Given the description of an element on the screen output the (x, y) to click on. 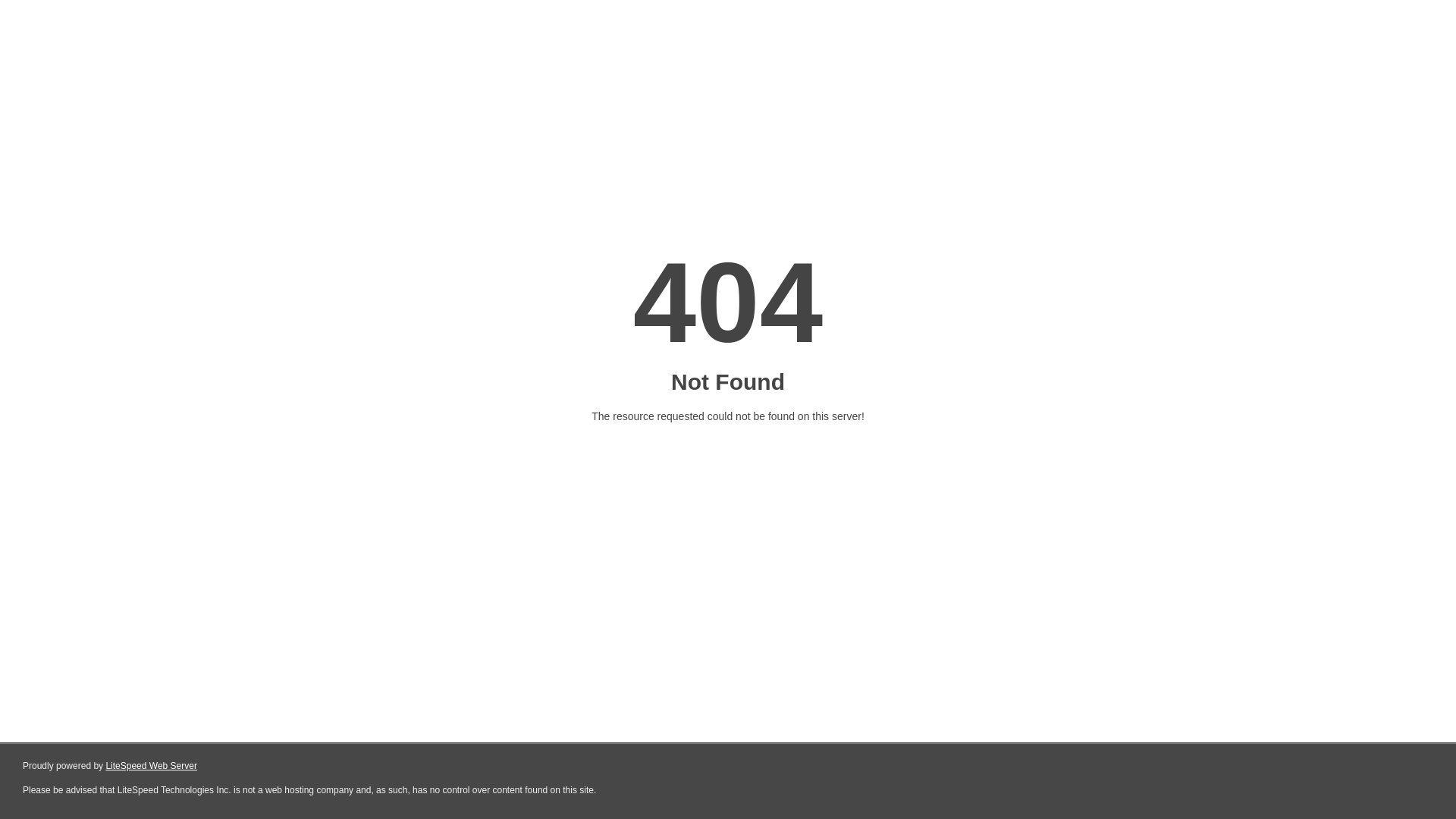
LiteSpeed Web Server Element type: text (151, 765)
